Given the description of an element on the screen output the (x, y) to click on. 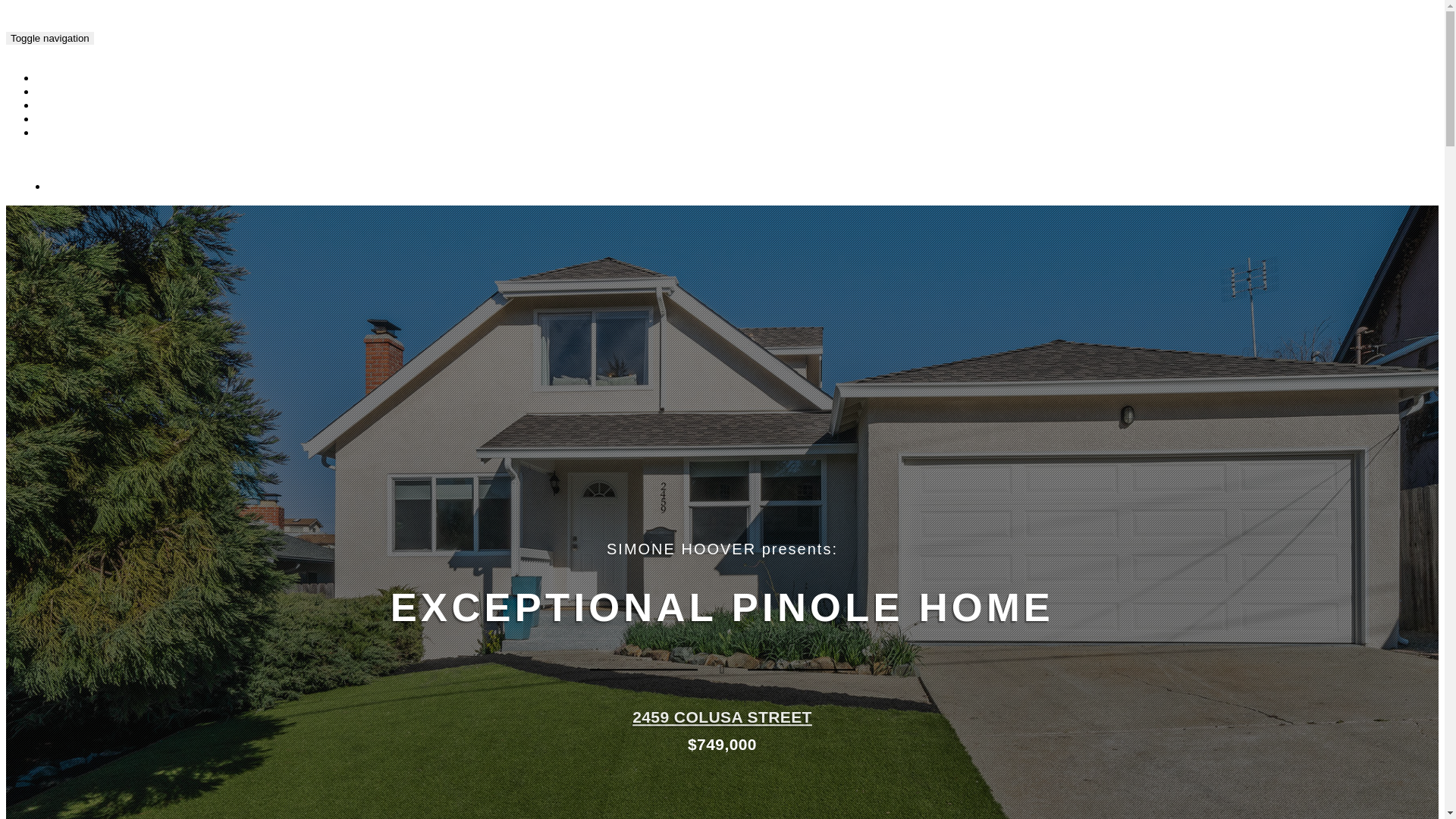
2459 Colusa Street Element type: text (173, 35)
SCHEDULE & CONTACT Element type: text (105, 133)
GALLERY Element type: text (70, 78)
FLOOR PLANS Element type: text (82, 92)
2459 COLUSA STREET Element type: text (722, 716)
FEATURES Element type: text (73, 106)
LOCATION Element type: text (72, 119)
Toggle navigation Element type: text (50, 37)
